Given the description of an element on the screen output the (x, y) to click on. 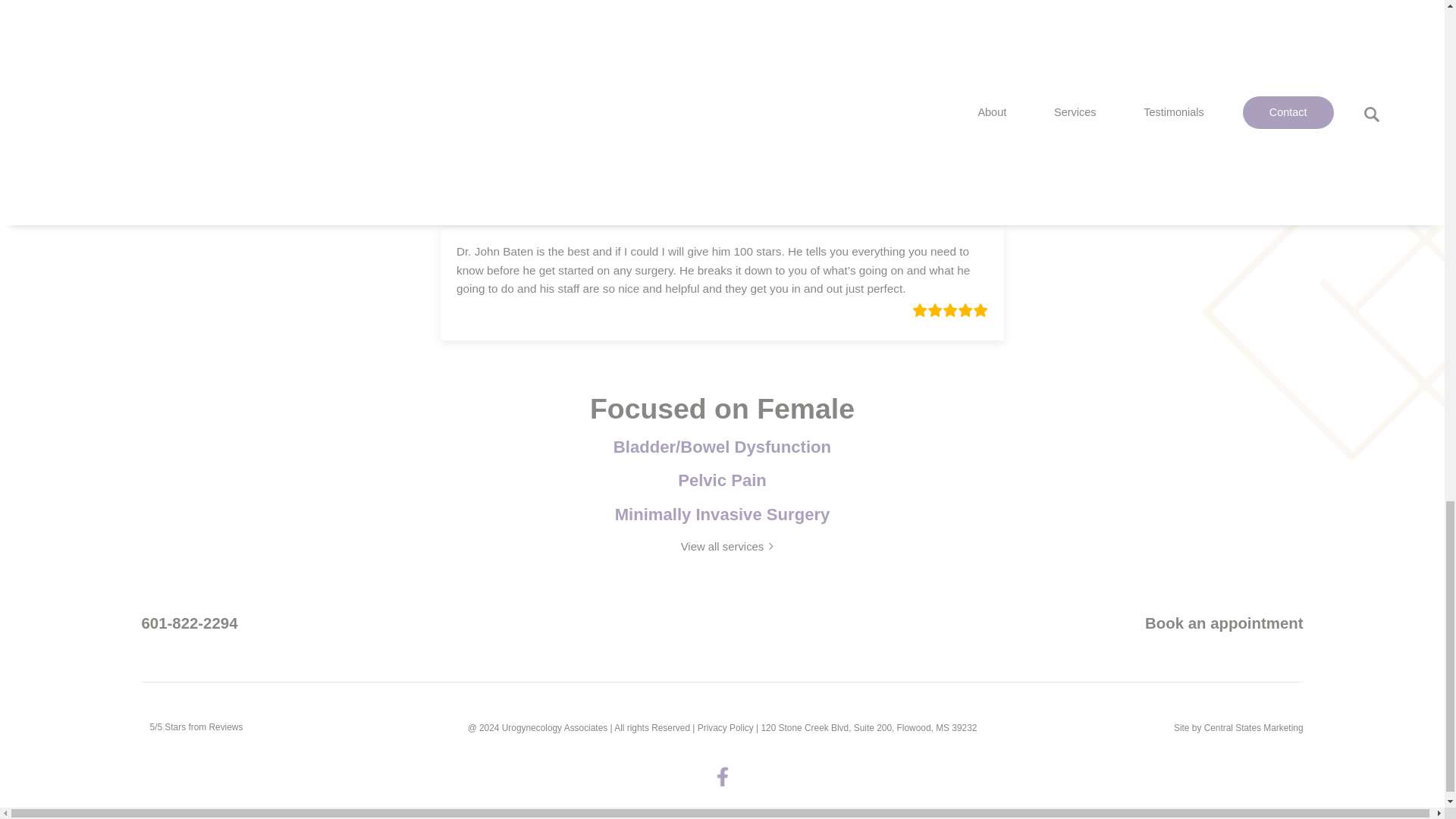
Privacy Policy (725, 727)
View all services (722, 547)
Central States Marketing (1253, 727)
601-822-2294 (189, 623)
Book an appointment (1223, 623)
120 Stone Creek Blvd, Suite 200, Flowood, MS 39232 (868, 727)
